Given the description of an element on the screen output the (x, y) to click on. 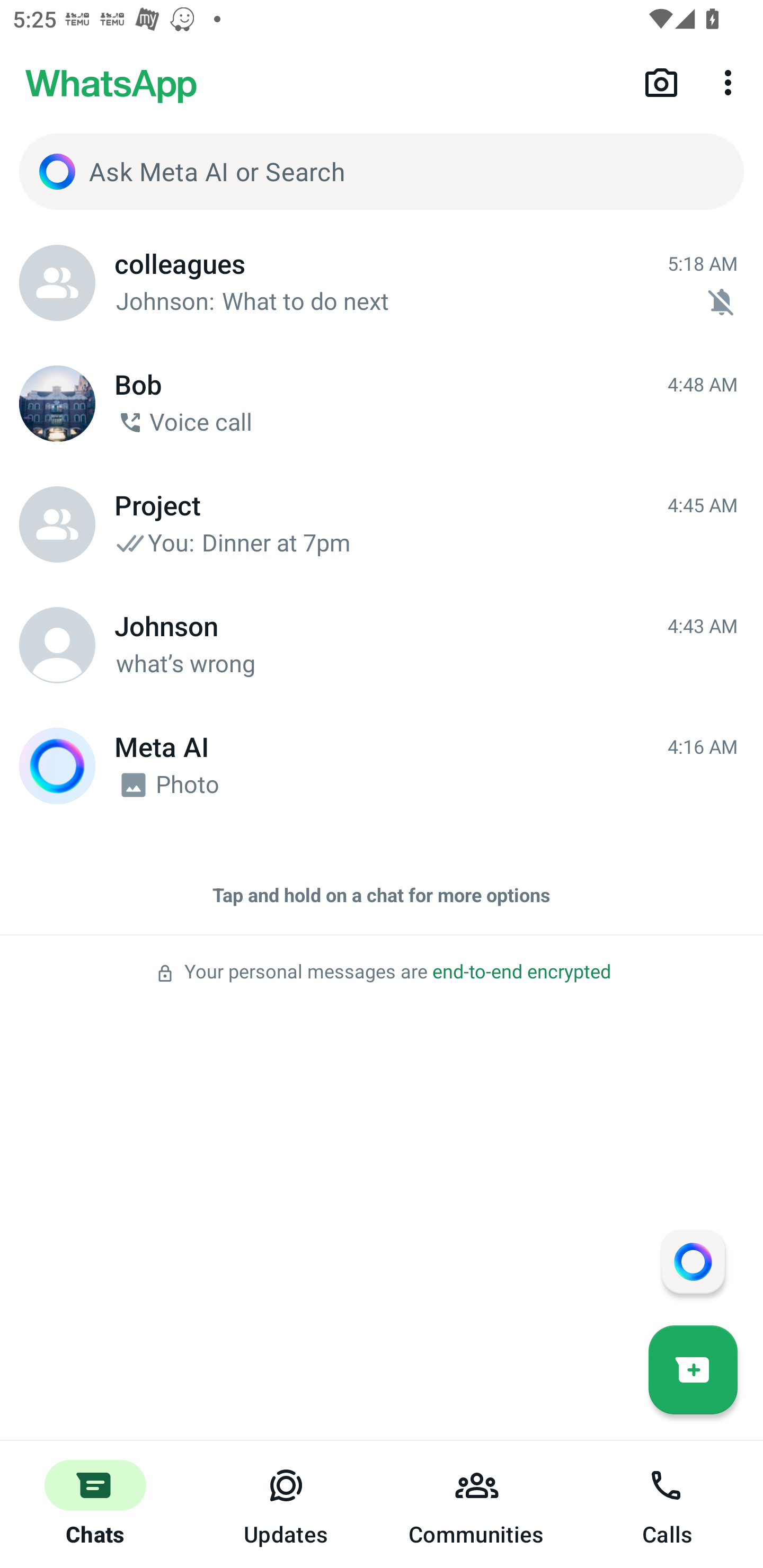
Camera (661, 81)
More options (731, 81)
colleagues (57, 282)
Bob Bob 4:48 AM 4:48 AM Voice call (381, 403)
Bob (57, 403)
Project (57, 524)
Johnson Johnson 4:43 AM 4:43 AM what’s wrong (381, 644)
Johnson (57, 644)
Meta AI Meta AI 4:16 AM 4:16 AM Photo (381, 765)
Meta AI (57, 765)
end-to-end encrypted (521, 972)
Message your assistant (692, 1261)
New chat (692, 1369)
Updates (285, 1504)
Communities (476, 1504)
Calls (667, 1504)
